Given the description of an element on the screen output the (x, y) to click on. 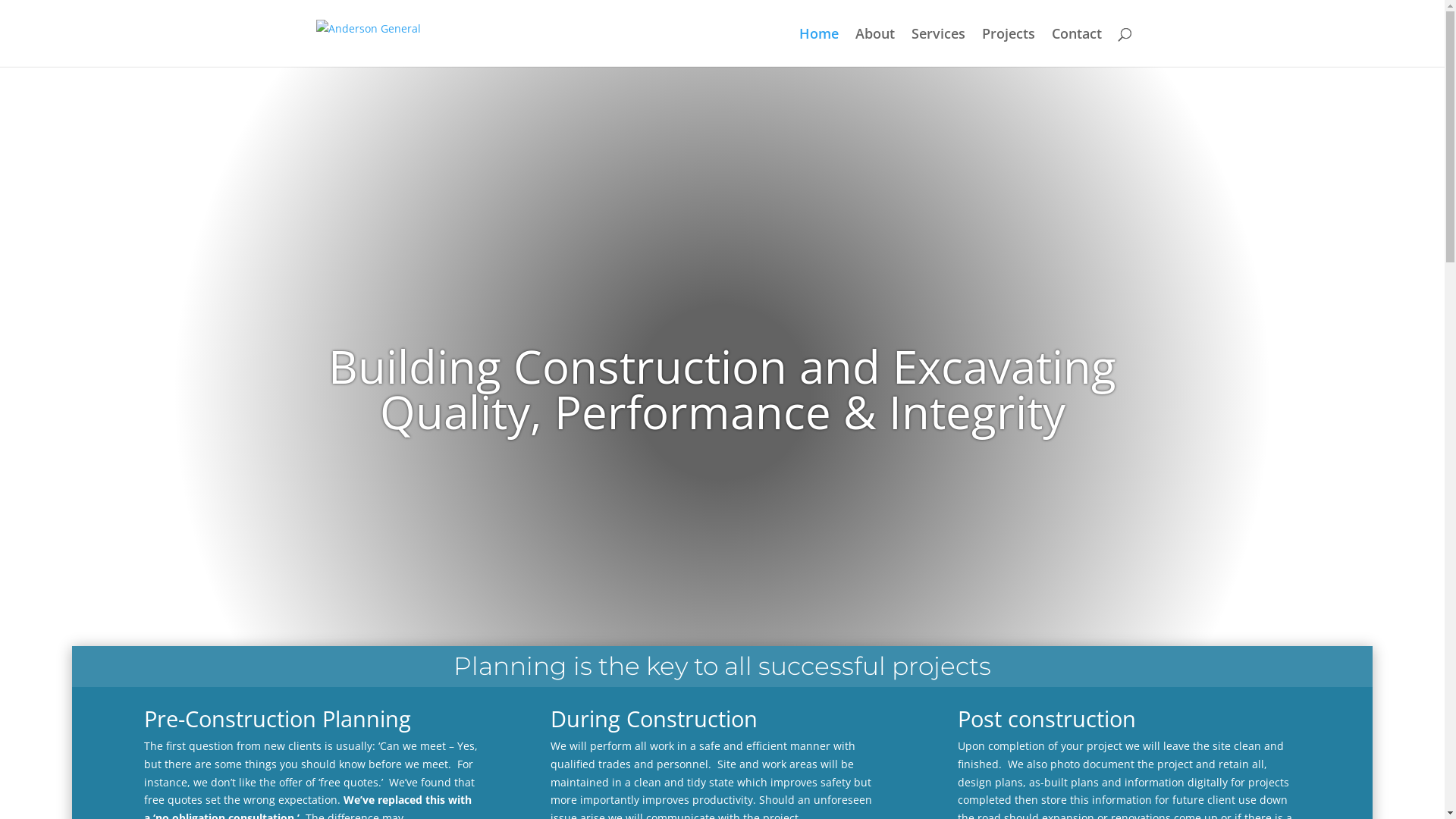
Contact Element type: text (1076, 47)
Home Element type: text (818, 47)
Projects Element type: text (1007, 47)
Services Element type: text (938, 47)
About Element type: text (874, 47)
